Given the description of an element on the screen output the (x, y) to click on. 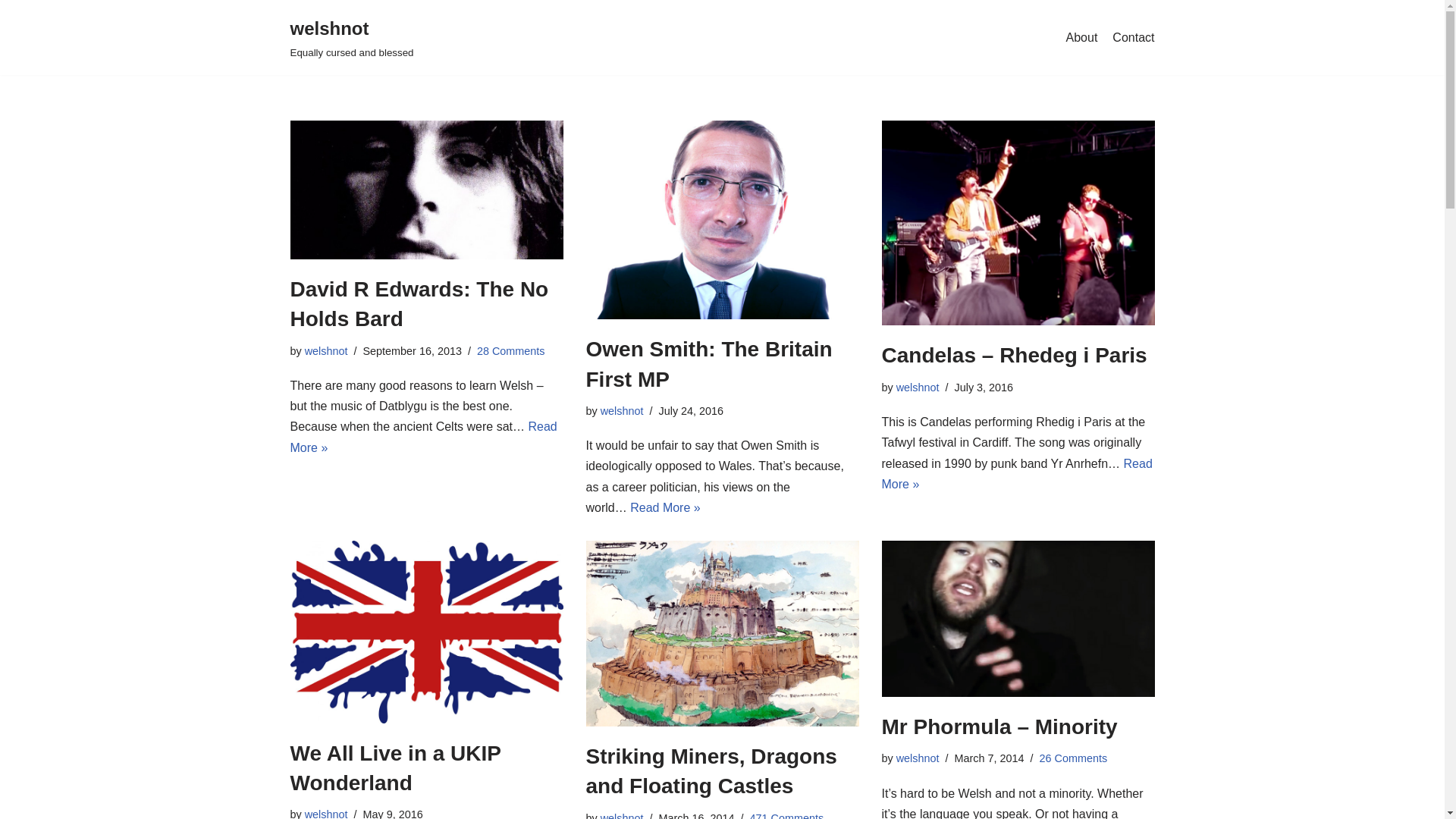
Striking Miners, Dragons and Floating Castles (710, 770)
26 Comments (1072, 758)
welshnot (621, 410)
471 Comments (786, 815)
Contact (1133, 37)
We All Live in a UKIP Wonderland (394, 768)
David R Edwards: The No Holds Bard (425, 189)
Posts by welshnot (621, 815)
welshnot (917, 387)
About (1081, 37)
Owen Smith: The Britain First MP (708, 363)
Skip to content (11, 31)
Striking Miners, Dragons and Floating Castles (722, 633)
Posts by welshnot (325, 350)
Owen Smith: The Britain First MP (722, 219)
